Given the description of an element on the screen output the (x, y) to click on. 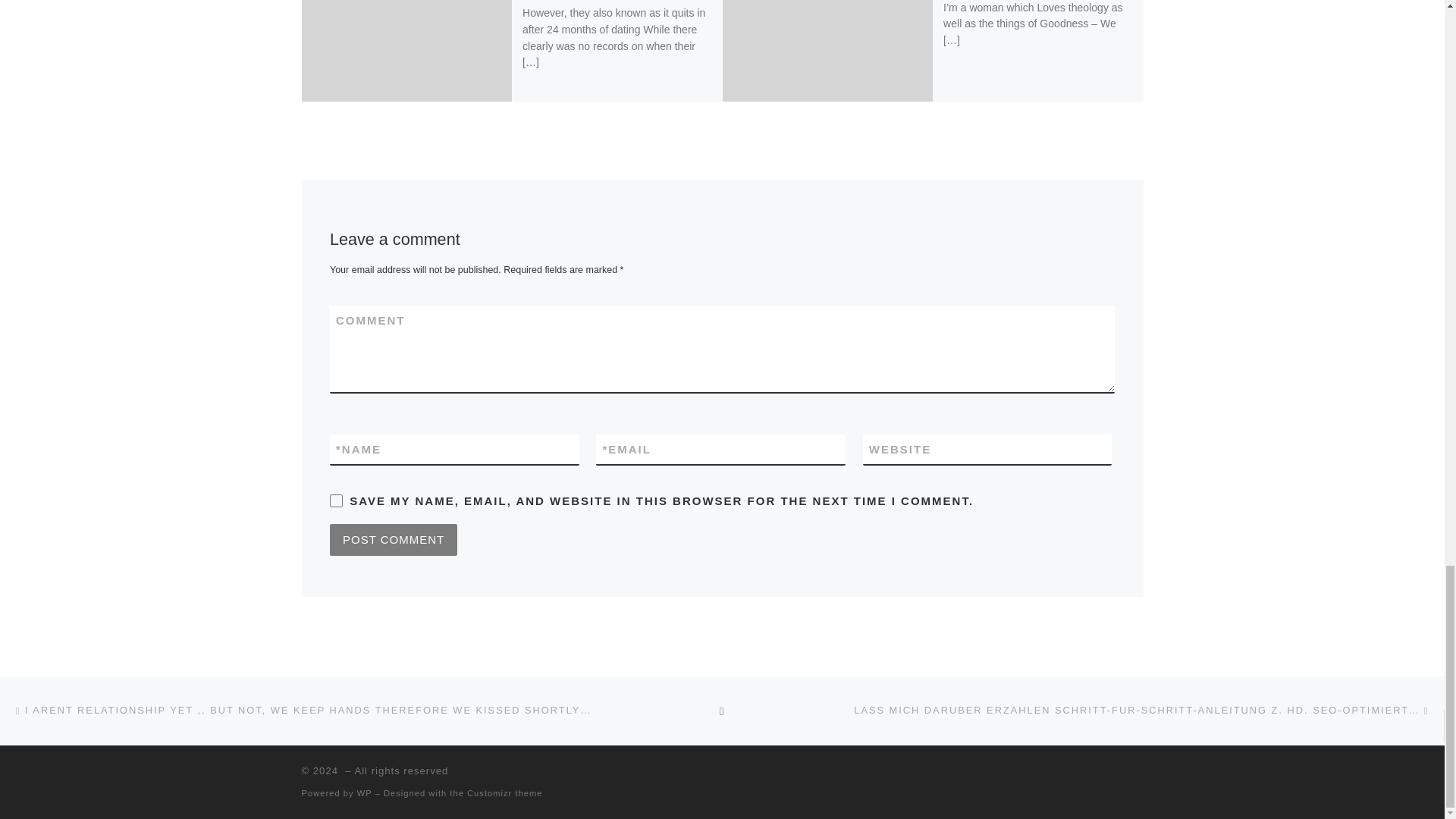
Post Comment (393, 540)
WP (364, 792)
Powered by WordPress (364, 792)
Customizr theme (505, 792)
Post Comment (393, 540)
yes (336, 500)
Customizr theme (505, 792)
